Given the description of an element on the screen output the (x, y) to click on. 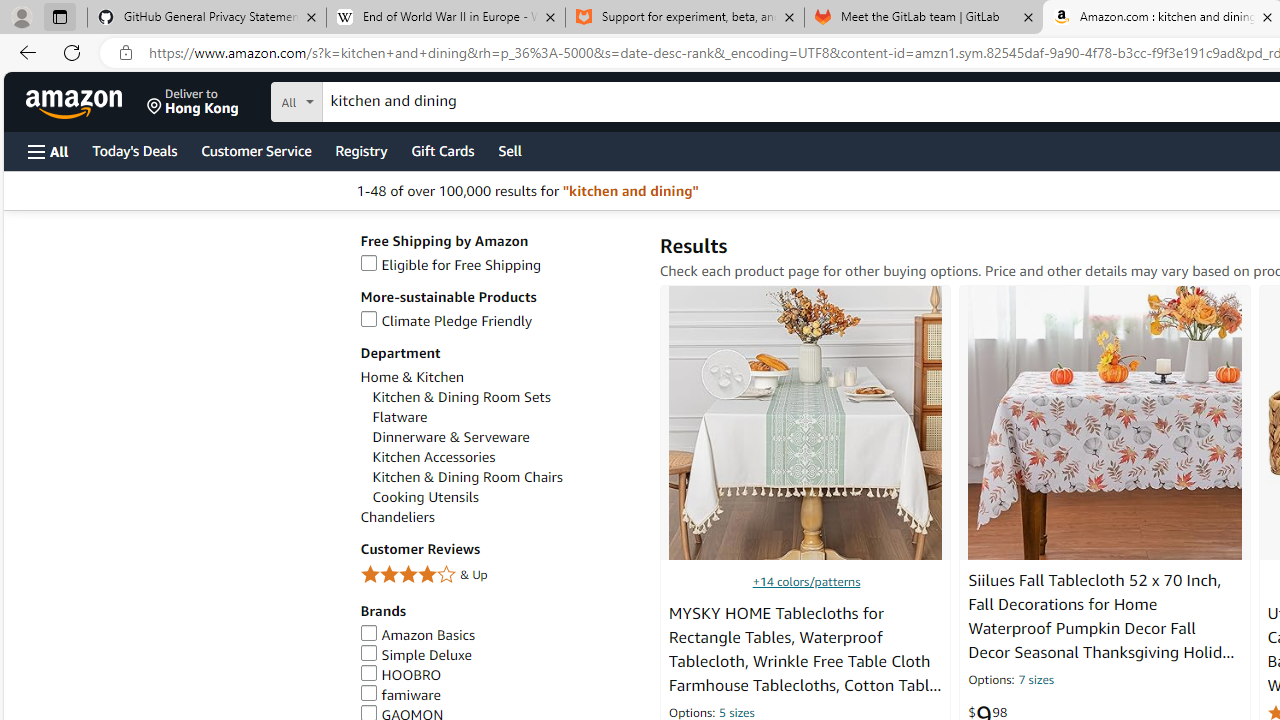
Kitchen & Dining Room Sets (506, 397)
Simple Deluxe (416, 655)
Dinnerware & Serveware (506, 437)
Deliver to Hong Kong (193, 101)
Search in (371, 99)
Home & Kitchen (499, 376)
Registry (360, 150)
4 Stars & Up& Up (499, 576)
End of World War II in Europe - Wikipedia (445, 17)
Cooking Utensils (425, 497)
Kitchen & Dining Room Chairs (506, 477)
Meet the GitLab team | GitLab (924, 17)
